Given the description of an element on the screen output the (x, y) to click on. 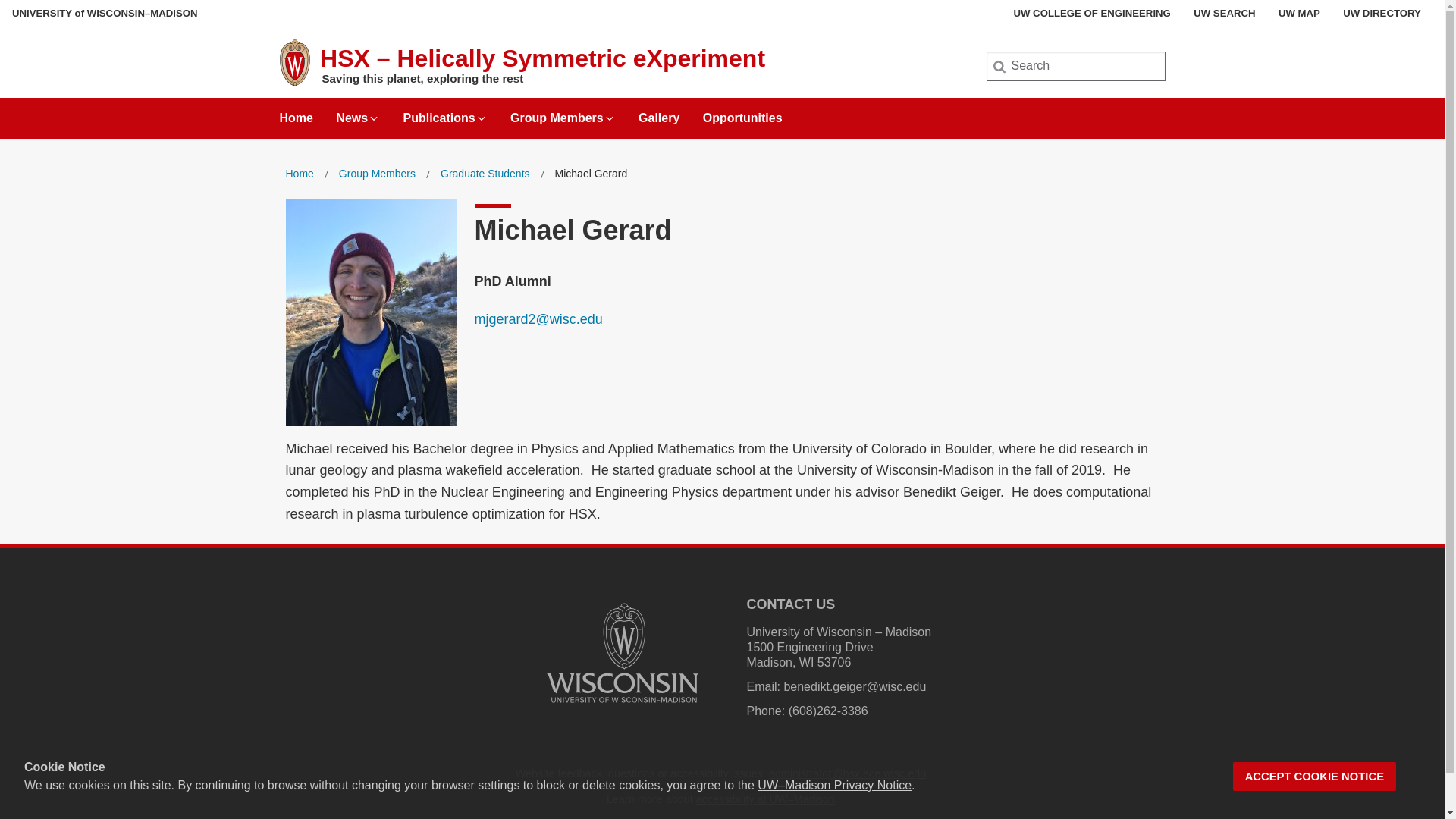
UW MAP (1299, 13)
UW SEARCH (1224, 13)
Skip to main content (3, 3)
Expand (374, 118)
University logo that links to main university website (621, 705)
ACCEPT COOKIE NOTICE (1314, 776)
Group Members (376, 173)
UW COLLEGE OF ENGINEERING (1091, 13)
Group Members Expand (563, 112)
University logo that links to main university website (621, 653)
